Given the description of an element on the screen output the (x, y) to click on. 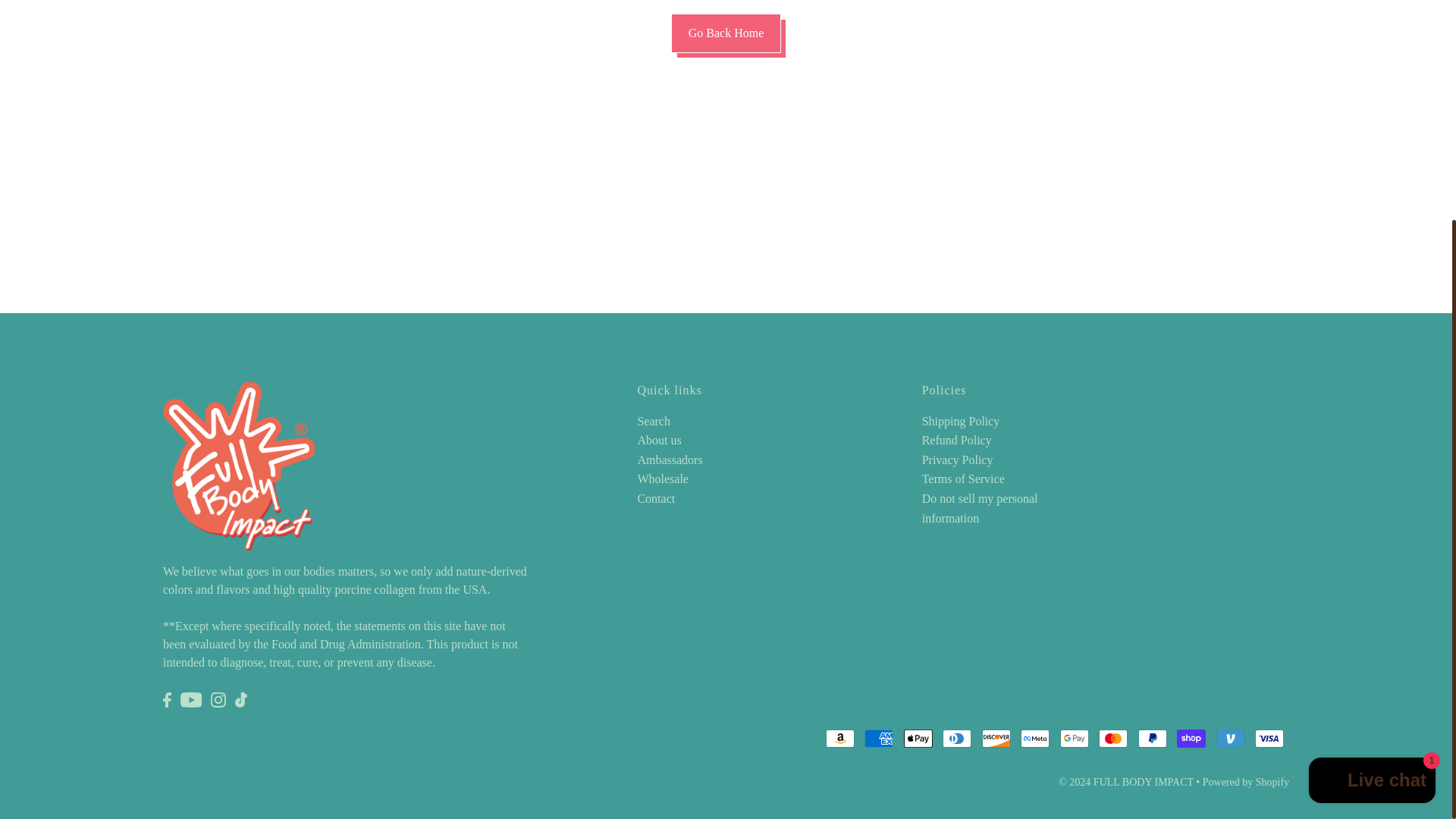
Apple Pay (918, 738)
Google Pay (1074, 738)
PayPal (1152, 738)
Shop Pay (1190, 738)
Amazon (839, 738)
Go Back Home (725, 33)
Venmo (1229, 738)
Shopify online store chat (1371, 481)
Mastercard (1112, 738)
Diners Club (956, 738)
Meta Pay (1034, 738)
Youtube (191, 699)
Discover (995, 738)
American Express (878, 738)
